Given the description of an element on the screen output the (x, y) to click on. 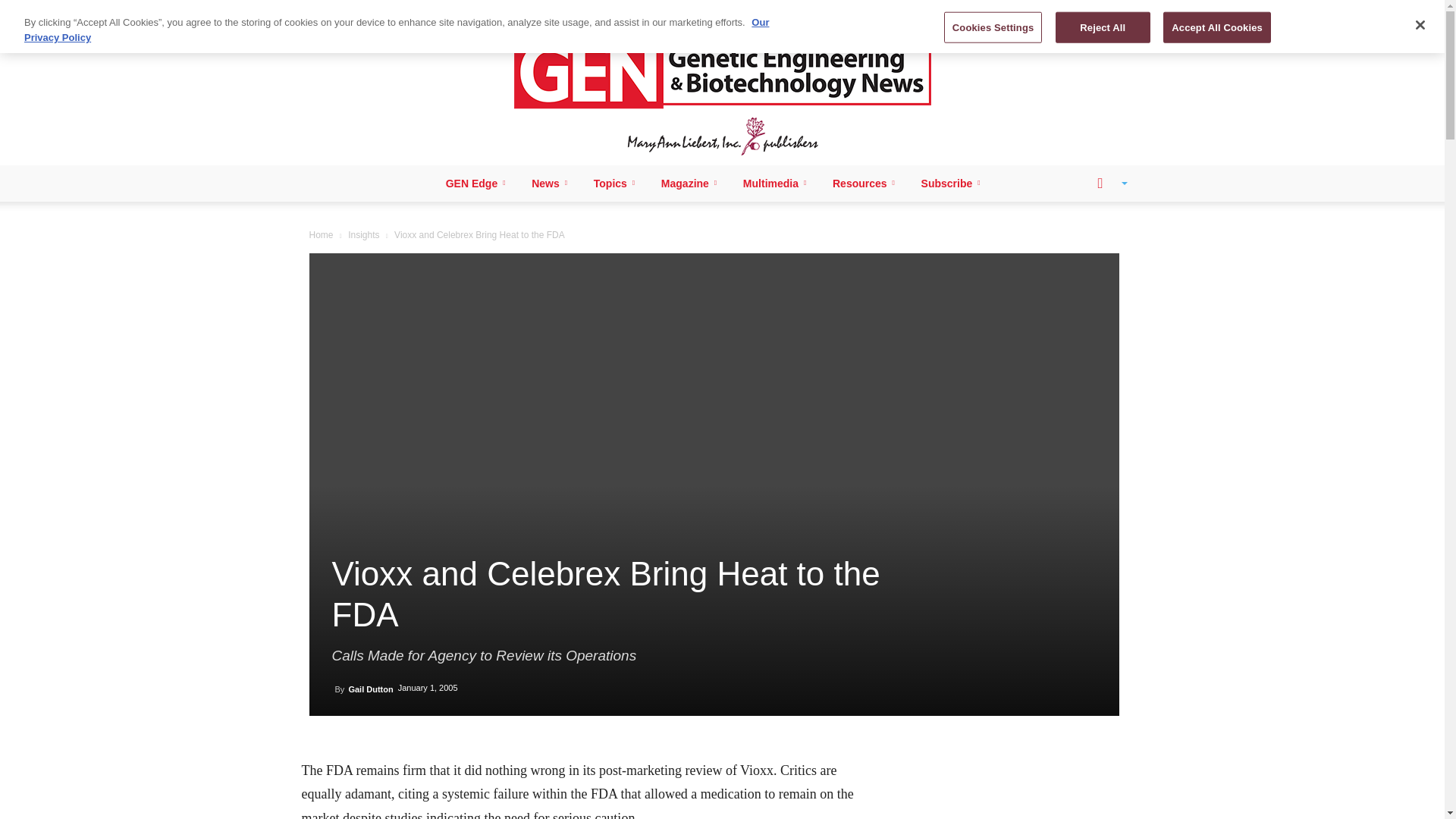
View all posts in Insights (362, 235)
RSS (379, 10)
Posts by Gail Dutton (370, 688)
Youtube (429, 10)
Twitter (403, 10)
Facebook (328, 10)
Linkedin (353, 10)
